Given the description of an element on the screen output the (x, y) to click on. 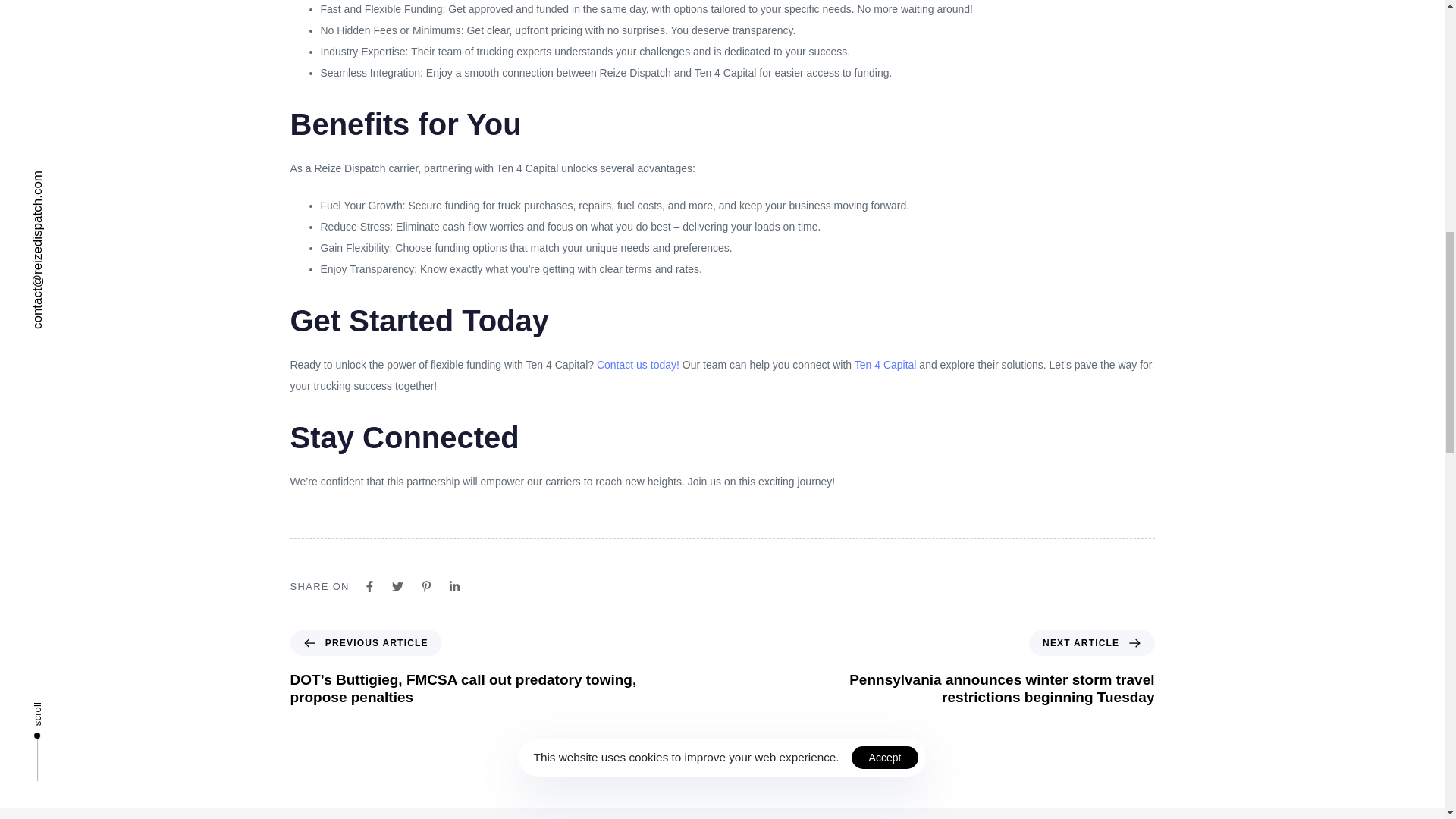
Ten 4 Capital (885, 364)
Contact us today! (637, 364)
